Given the description of an element on the screen output the (x, y) to click on. 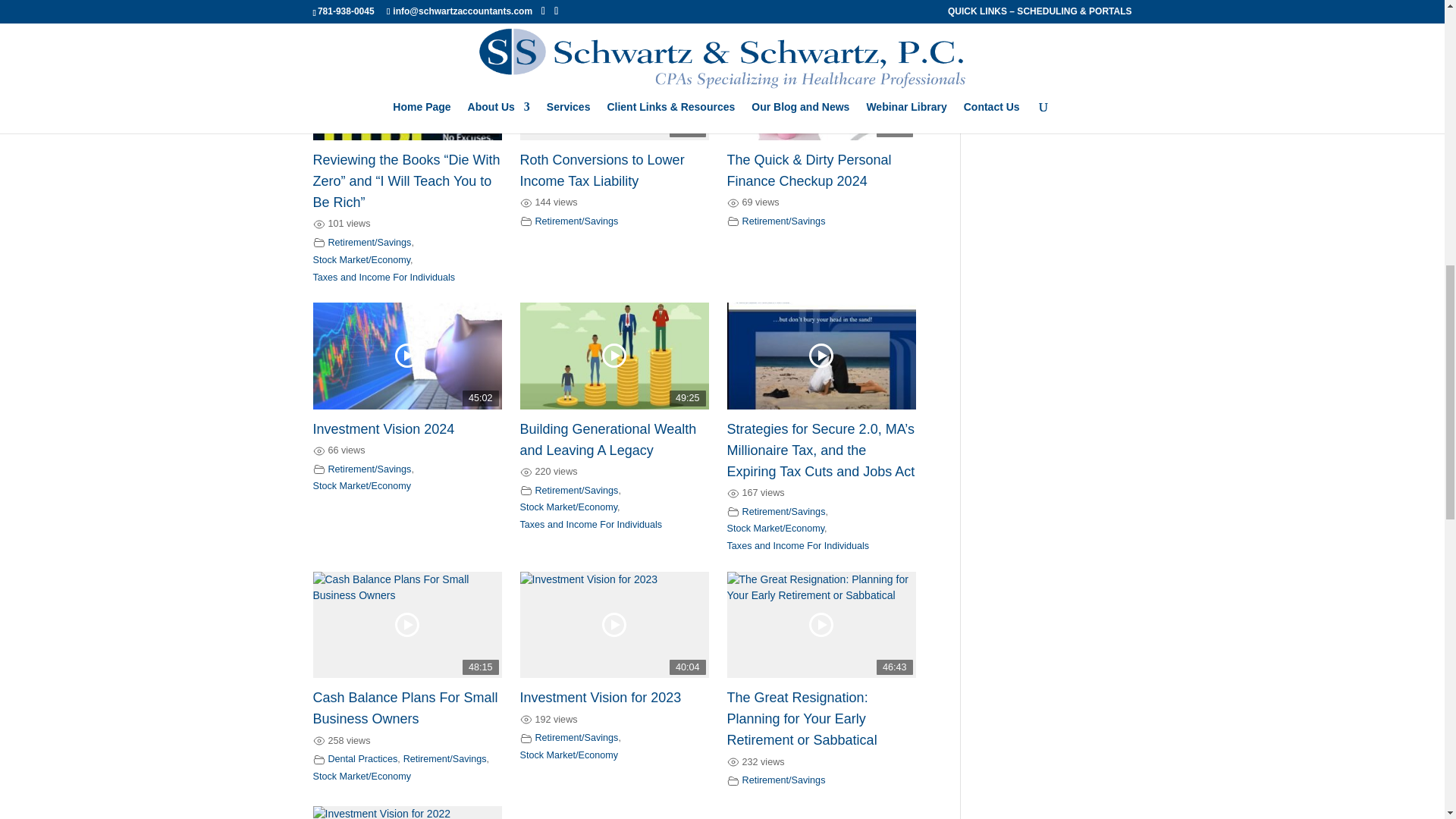
39:22 (406, 87)
Roth Conversions to Lower Income Tax Liability (601, 170)
45:06 (614, 87)
Taxes and Income For Individuals (383, 276)
50:35 (820, 87)
